Given the description of an element on the screen output the (x, y) to click on. 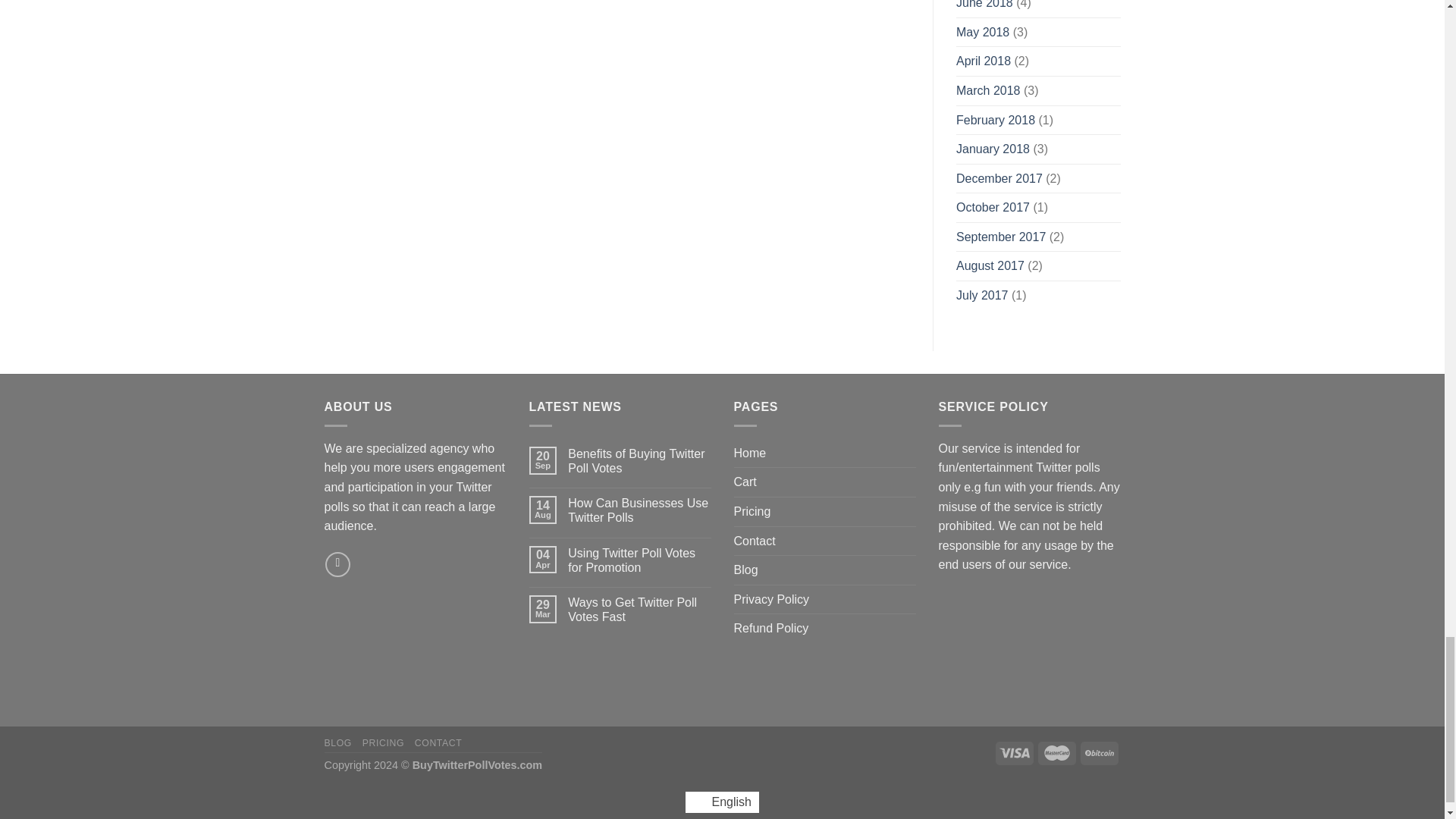
DMCA.com Protection Status (1030, 649)
How Can Businesses Use Twitter Polls (638, 510)
Ways to Get Twitter Poll Votes Fast (638, 609)
Using Twitter Poll Votes for Promotion (638, 560)
Benefits of Buying Twitter Poll Votes (638, 460)
Send us an email (337, 564)
